Given the description of an element on the screen output the (x, y) to click on. 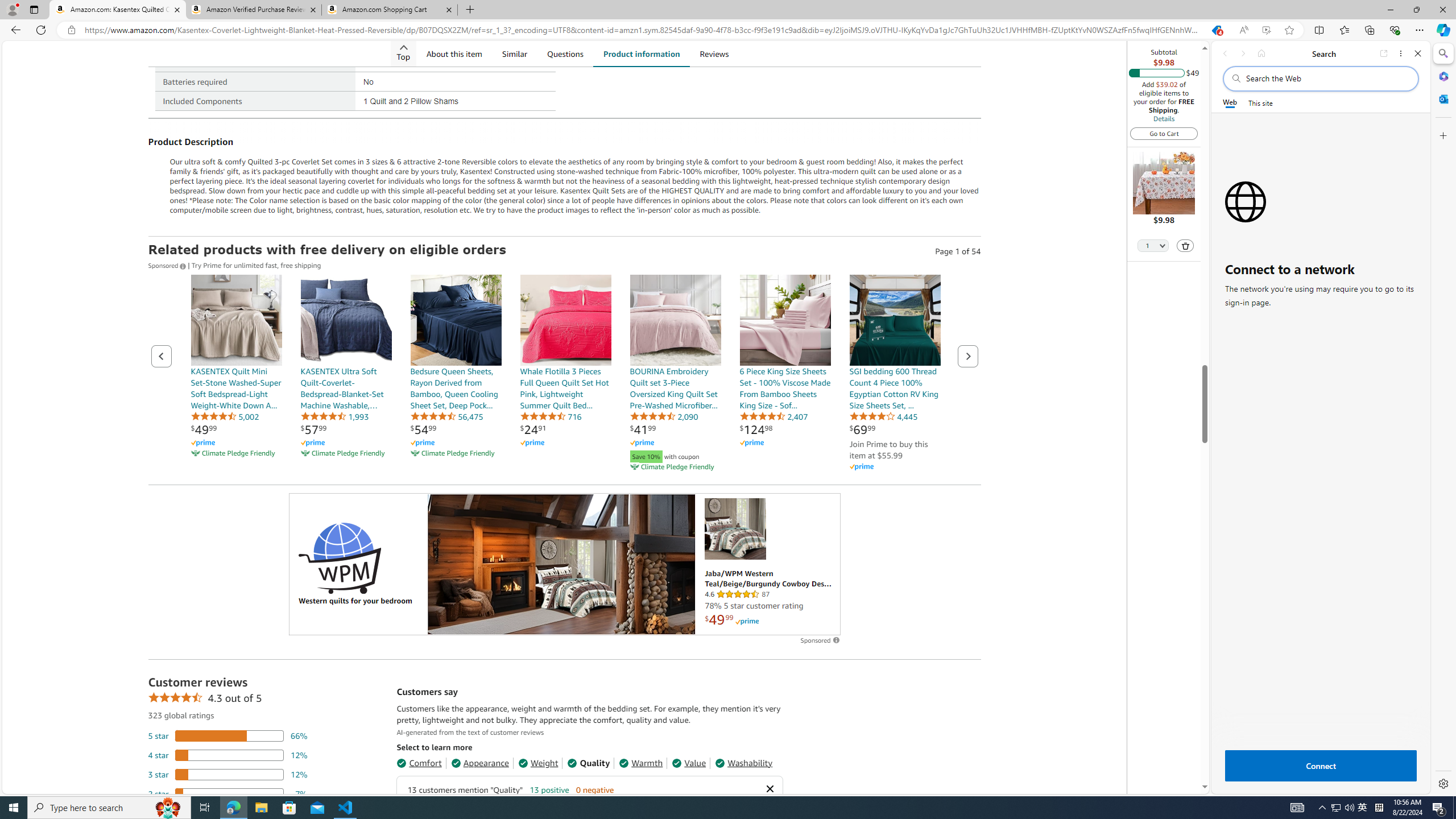
Web scope (1230, 102)
716 (550, 416)
2,407 (773, 416)
$57.99 (313, 429)
This site scope (1259, 102)
Prime (746, 620)
Amazon.com Shopping Cart (390, 9)
Amazon Prime (894, 466)
4,445 (882, 416)
Amazon Prime (860, 466)
